Given the description of an element on the screen output the (x, y) to click on. 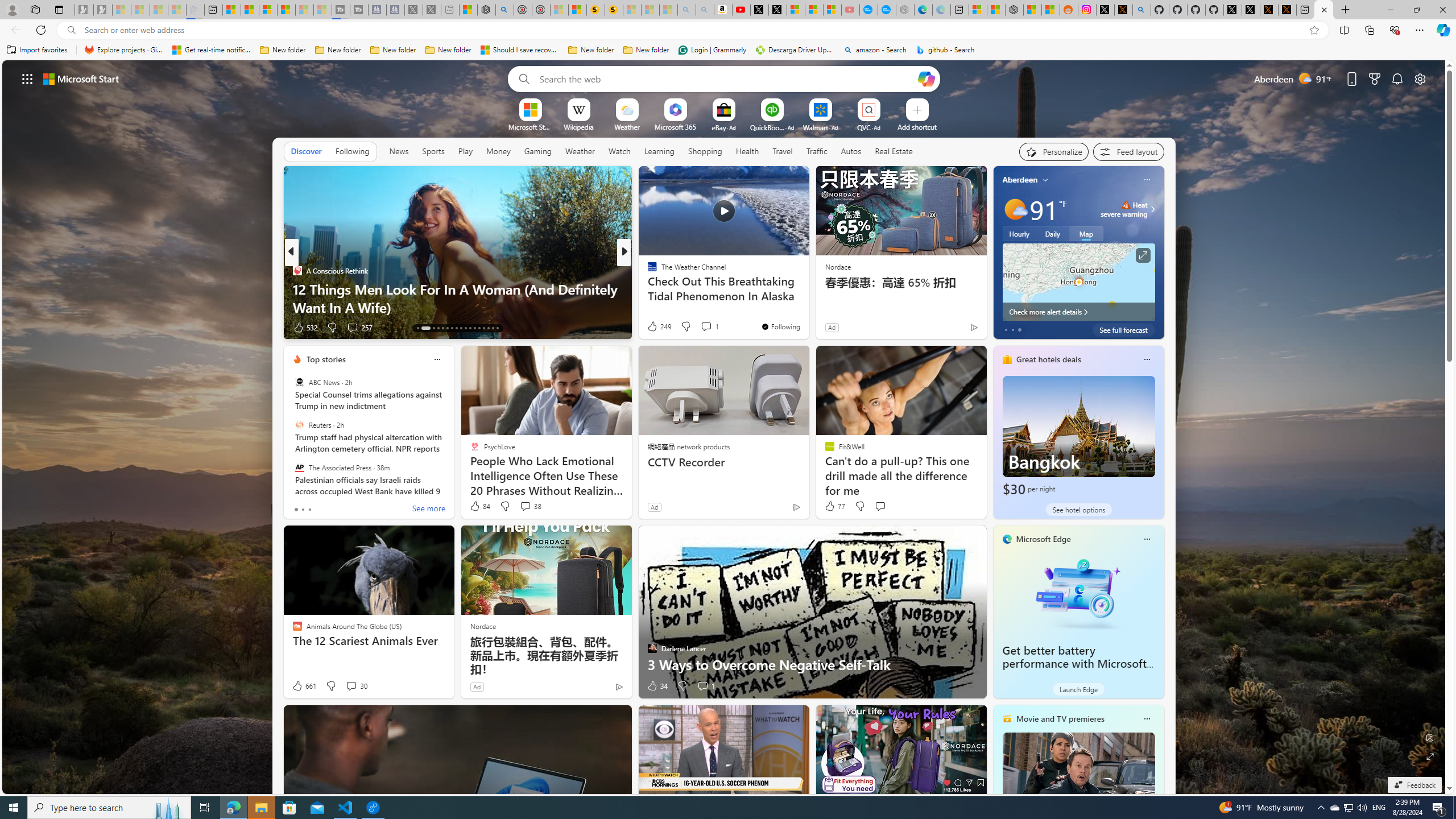
The Associated Press (299, 466)
Day 1: Arriving in Yemen (surreal to be here) - YouTube (741, 9)
AutomationID: backgroundImagePicture (723, 426)
Microsoft Start - Sleeping (304, 9)
AutomationID: tab-27 (488, 328)
